Given the description of an element on the screen output the (x, y) to click on. 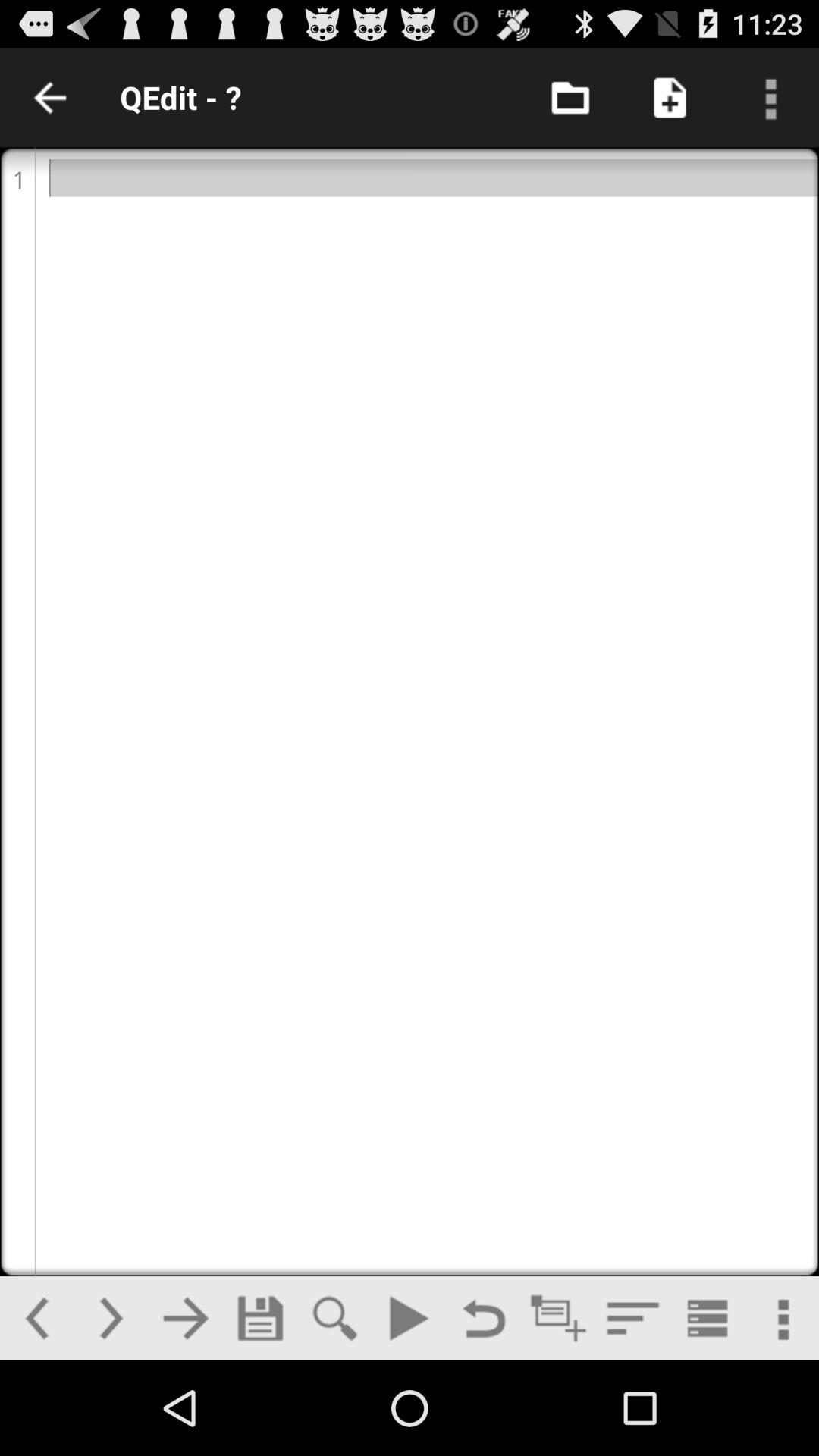
settings (781, 1318)
